Given the description of an element on the screen output the (x, y) to click on. 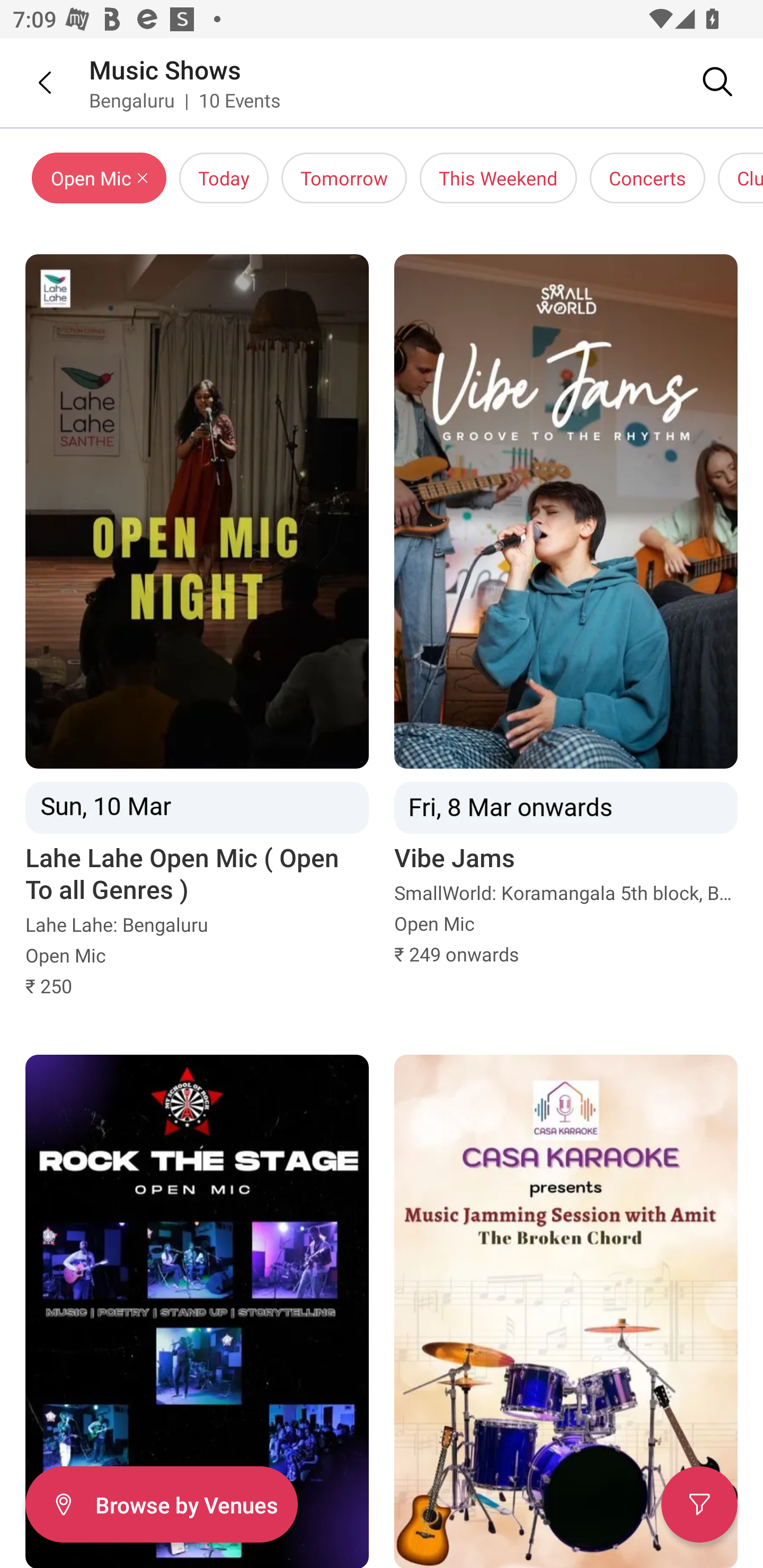
Back (31, 82)
Music Shows (165, 68)
Bengaluru  |  10 Events (185, 99)
Open Mic Close (99, 177)
Today (223, 177)
Tomorrow (343, 177)
This Weekend (497, 177)
Concerts (647, 177)
Filter Browse by Venues (161, 1504)
Filter (699, 1504)
